Given the description of an element on the screen output the (x, y) to click on. 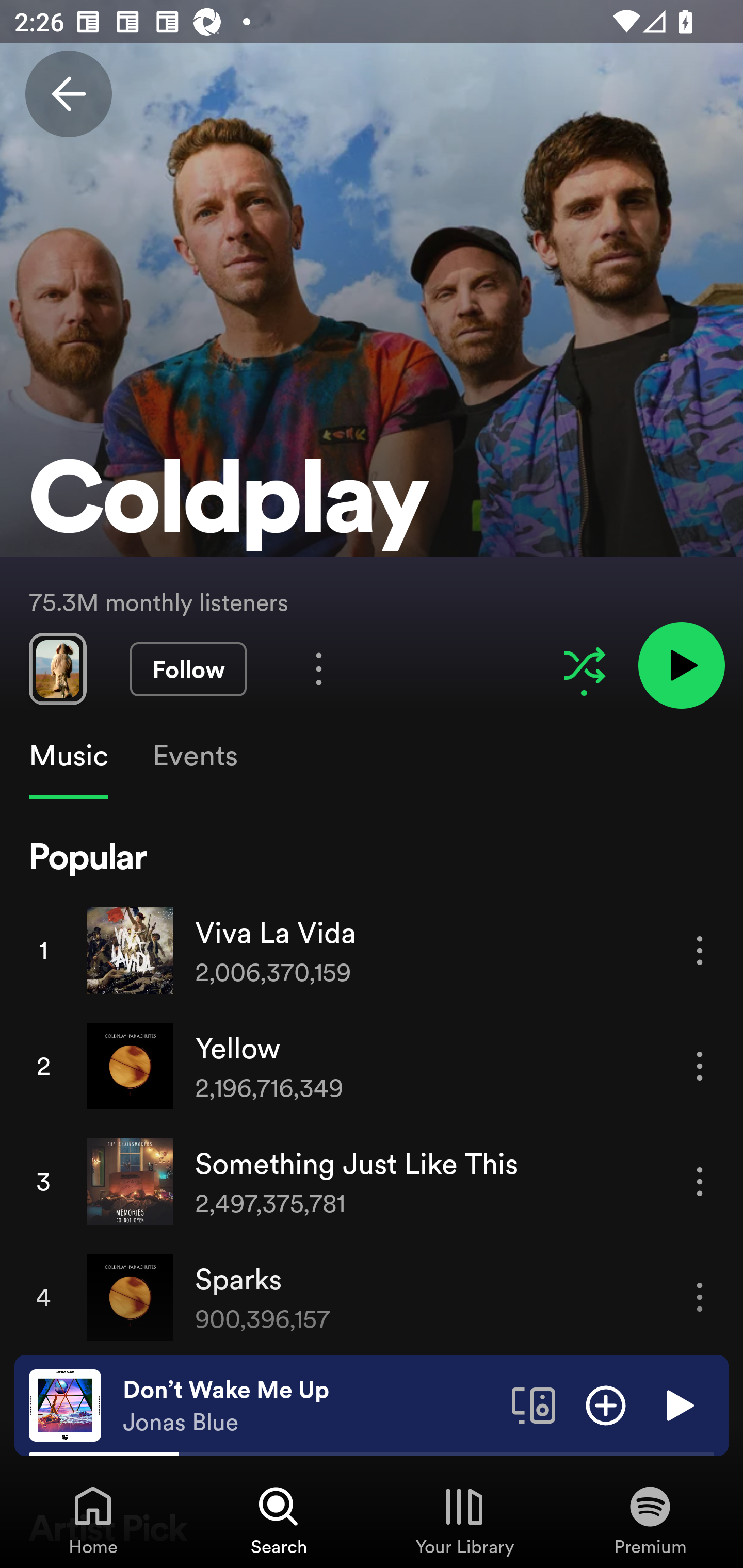
Back (68, 93)
Play artist (681, 664)
Disable shuffle for this artist (583, 665)
Swipe through previews of tracks from this artist. (57, 668)
More options for artist Coldplay (318, 668)
Follow (188, 669)
Events (194, 755)
More options for song Viva La Vida (699, 950)
More options for song Yellow (699, 1066)
More options for song Something Just Like This (699, 1181)
4 Sparks 900,396,157 More options for song Sparks (371, 1296)
More options for song Sparks (699, 1297)
Don’t Wake Me Up Jonas Blue (309, 1405)
The cover art of the currently playing track (64, 1404)
Connect to a device. Opens the devices menu (533, 1404)
Add item (605, 1404)
Play (677, 1404)
Home, Tab 1 of 4 Home Home (92, 1519)
Search, Tab 2 of 4 Search Search (278, 1519)
Your Library, Tab 3 of 4 Your Library Your Library (464, 1519)
Premium, Tab 4 of 4 Premium Premium (650, 1519)
